Given the description of an element on the screen output the (x, y) to click on. 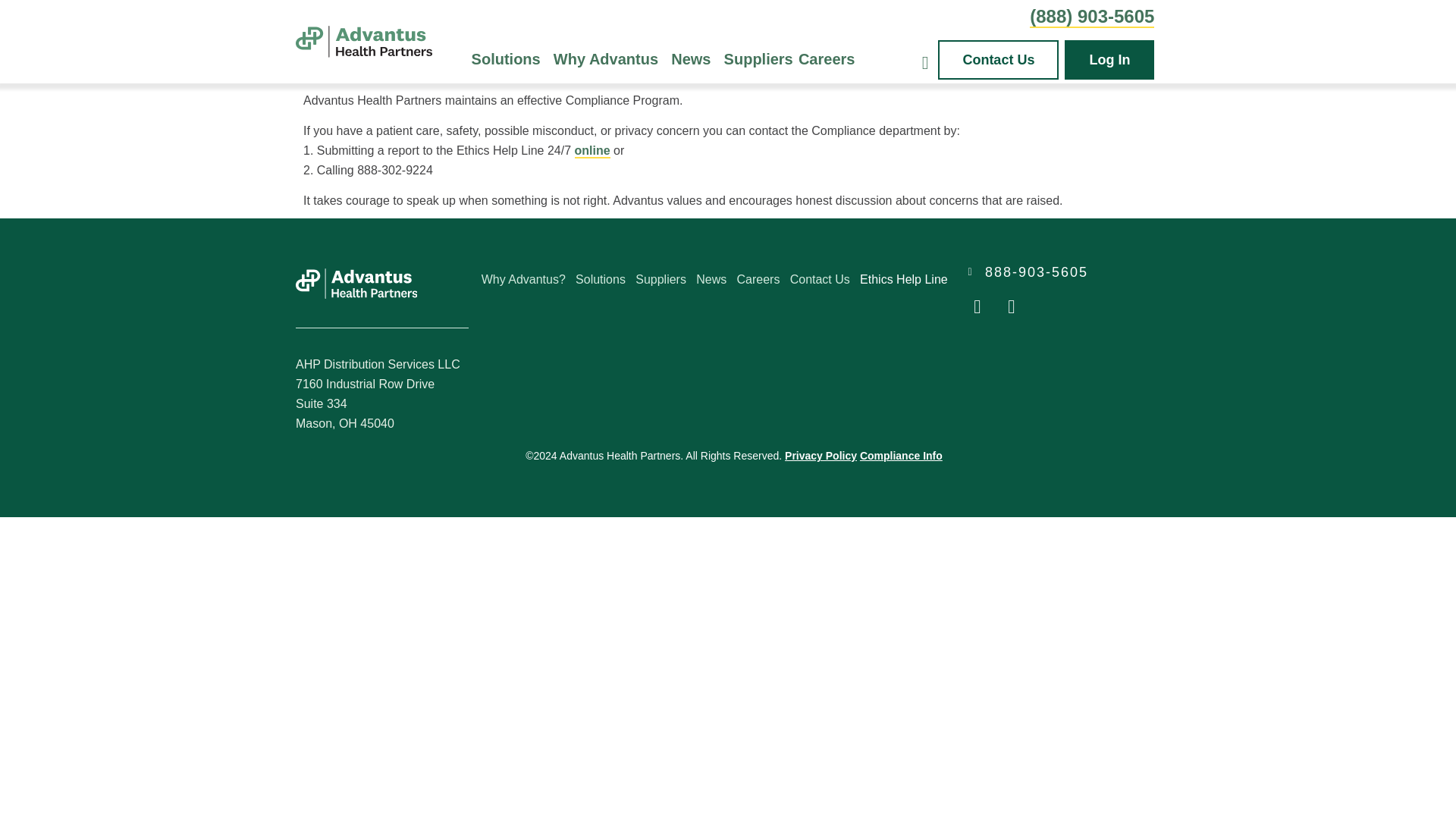
Why Advantus (609, 59)
Suppliers (757, 59)
News (694, 59)
Careers (825, 59)
Solutions (509, 59)
